Given the description of an element on the screen output the (x, y) to click on. 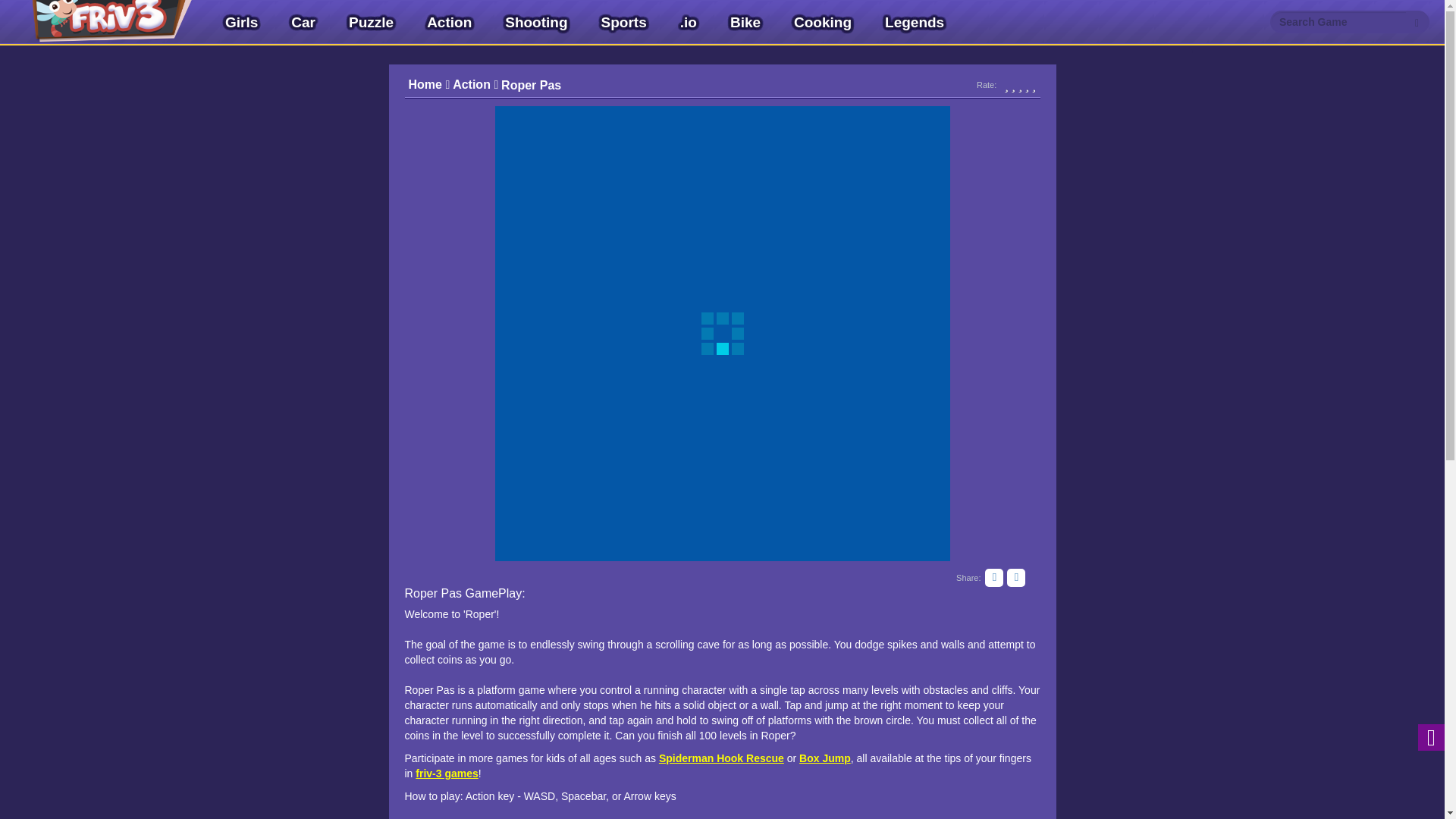
Car (303, 22)
Action (474, 85)
Box Jump (824, 758)
Legends  (914, 22)
Action (448, 22)
.io (688, 22)
Spiderman Hook Rescue (721, 758)
Friv3play.net (98, 22)
Sports (623, 22)
Girls (241, 22)
